Given the description of an element on the screen output the (x, y) to click on. 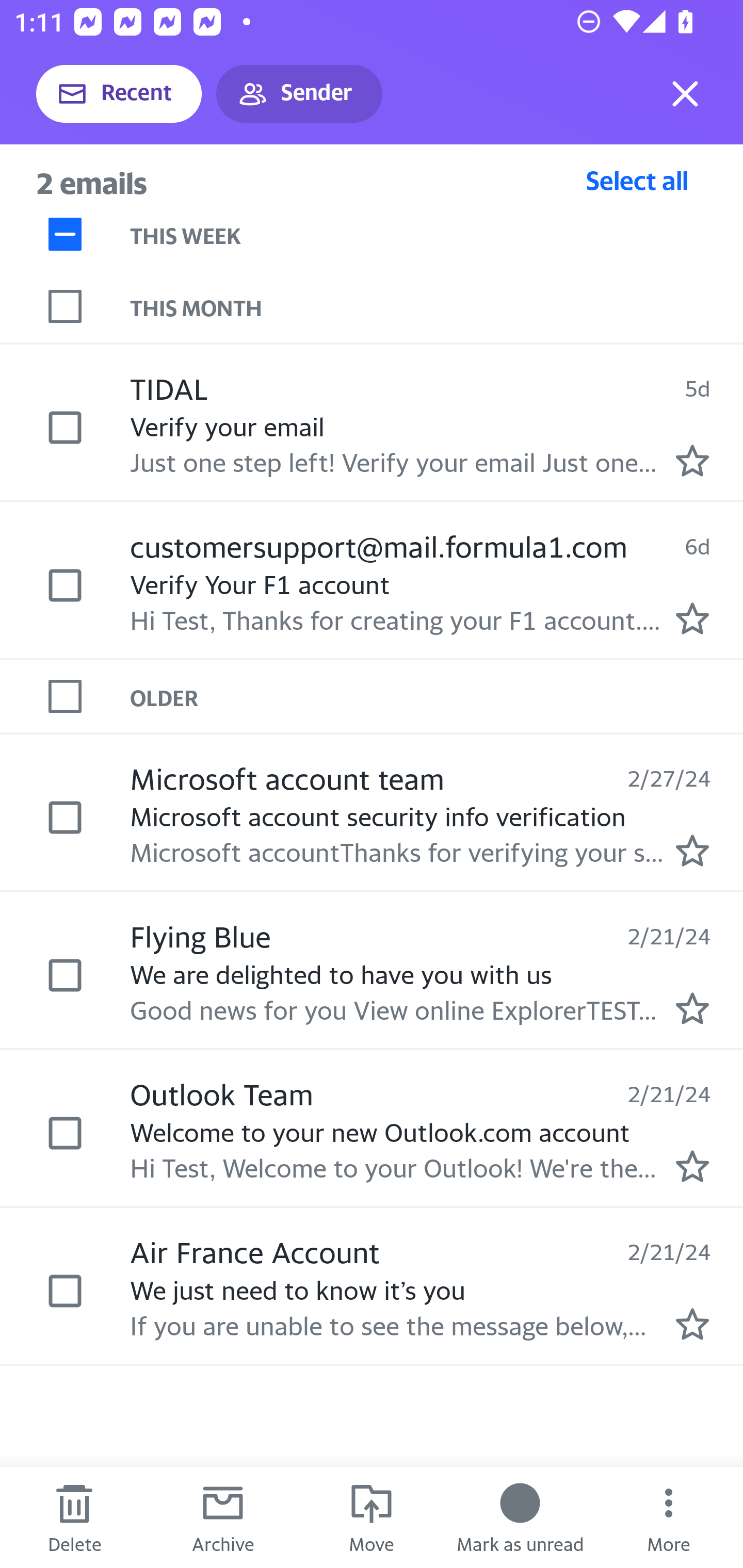
Sender (299, 93)
Exit selection mode (684, 93)
Select all (637, 180)
THIS MONTH (436, 306)
Mark as starred. (692, 460)
Mark as starred. (692, 618)
OLDER (436, 696)
Mark as starred. (692, 850)
Mark as starred. (692, 1008)
Mark as starred. (692, 1165)
Mark as starred. (692, 1324)
Delete (74, 1517)
Archive (222, 1517)
Move (371, 1517)
Mark as unread (519, 1517)
More (668, 1517)
